Given the description of an element on the screen output the (x, y) to click on. 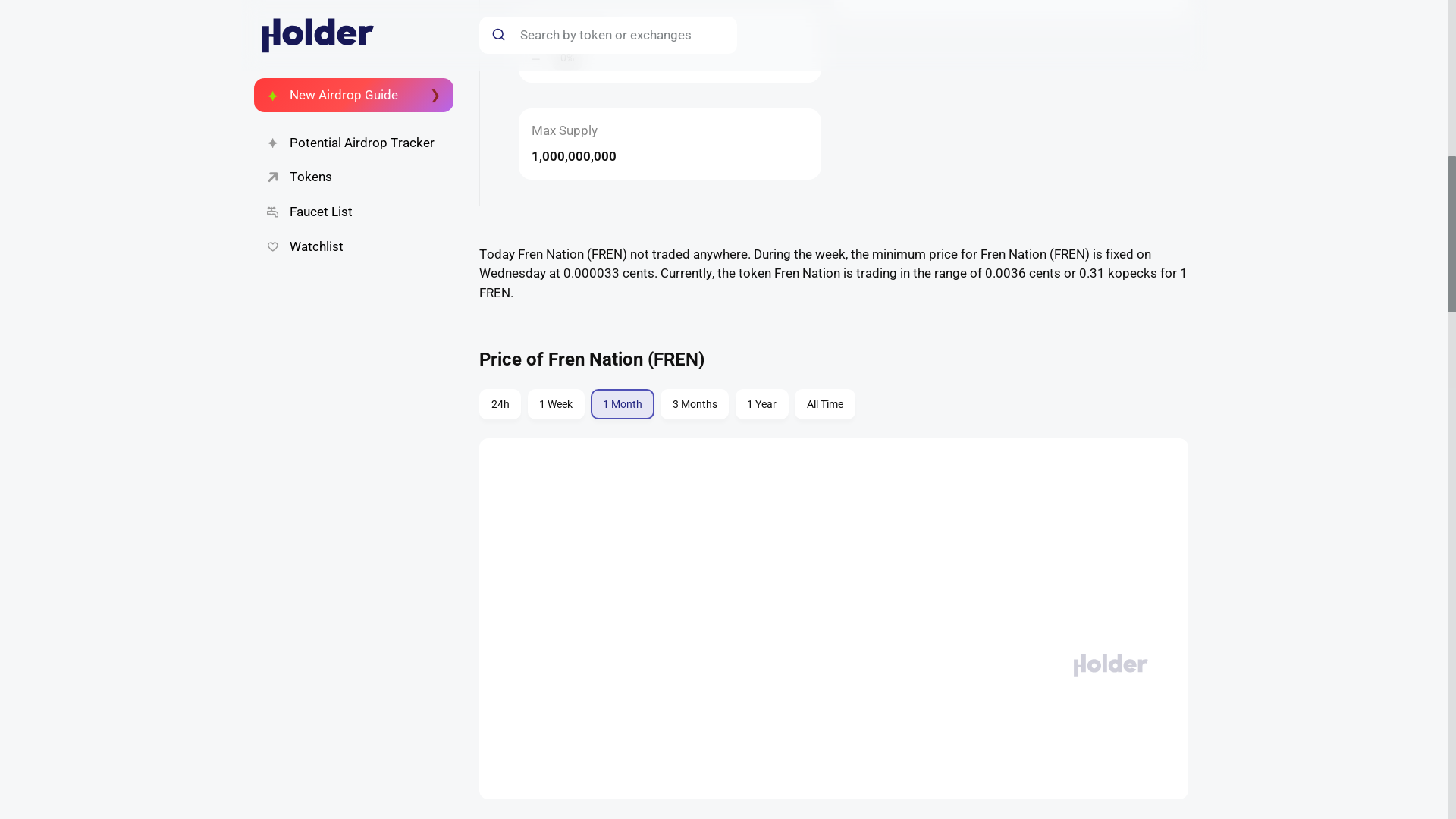
1 Month (622, 403)
3 Months (833, 407)
24h (695, 403)
All Time (500, 403)
1 Year (824, 403)
1 Week (762, 403)
